Given the description of an element on the screen output the (x, y) to click on. 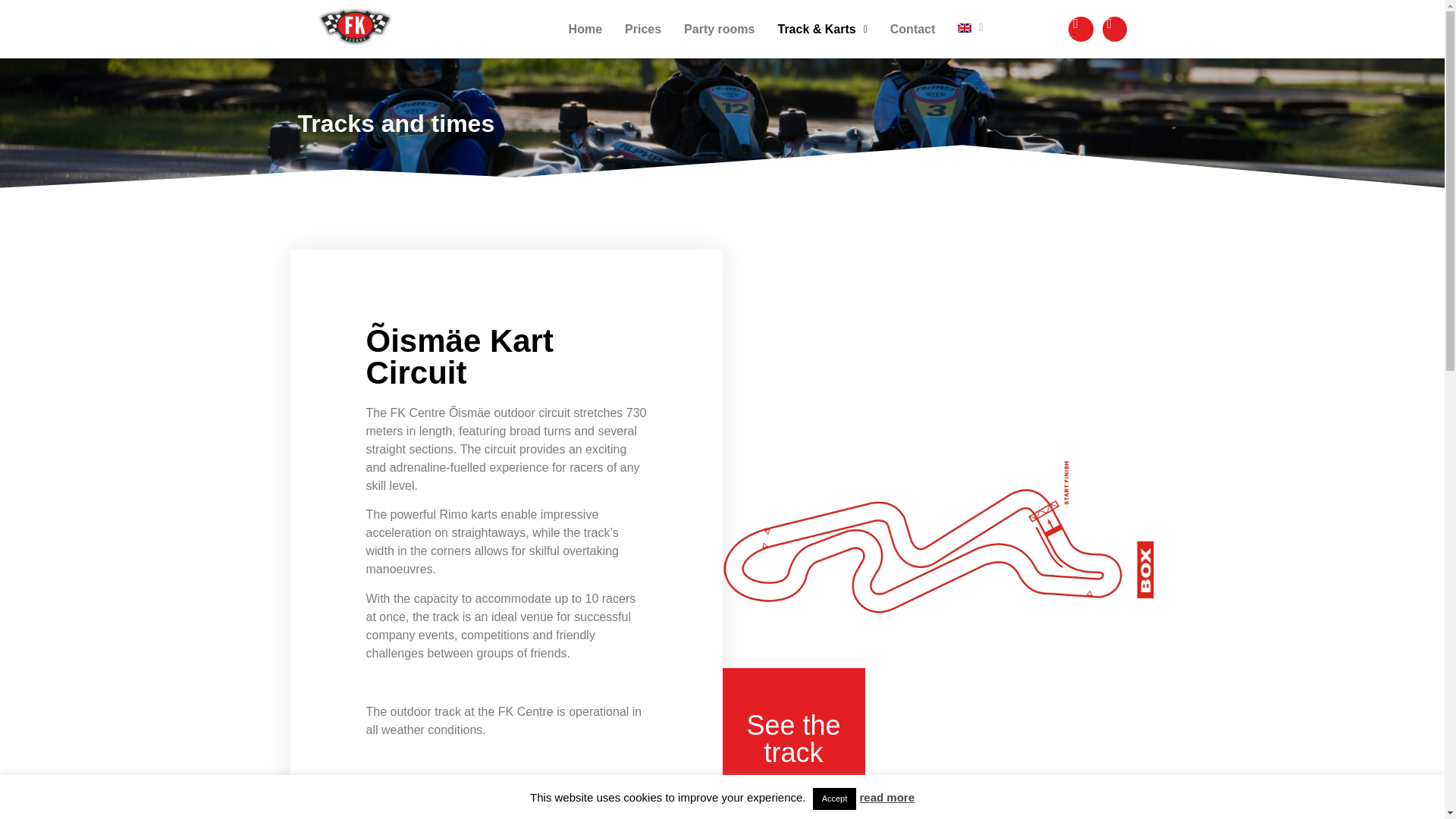
Party rooms (718, 29)
Home (584, 29)
Prices (642, 29)
Contact (913, 29)
